Given the description of an element on the screen output the (x, y) to click on. 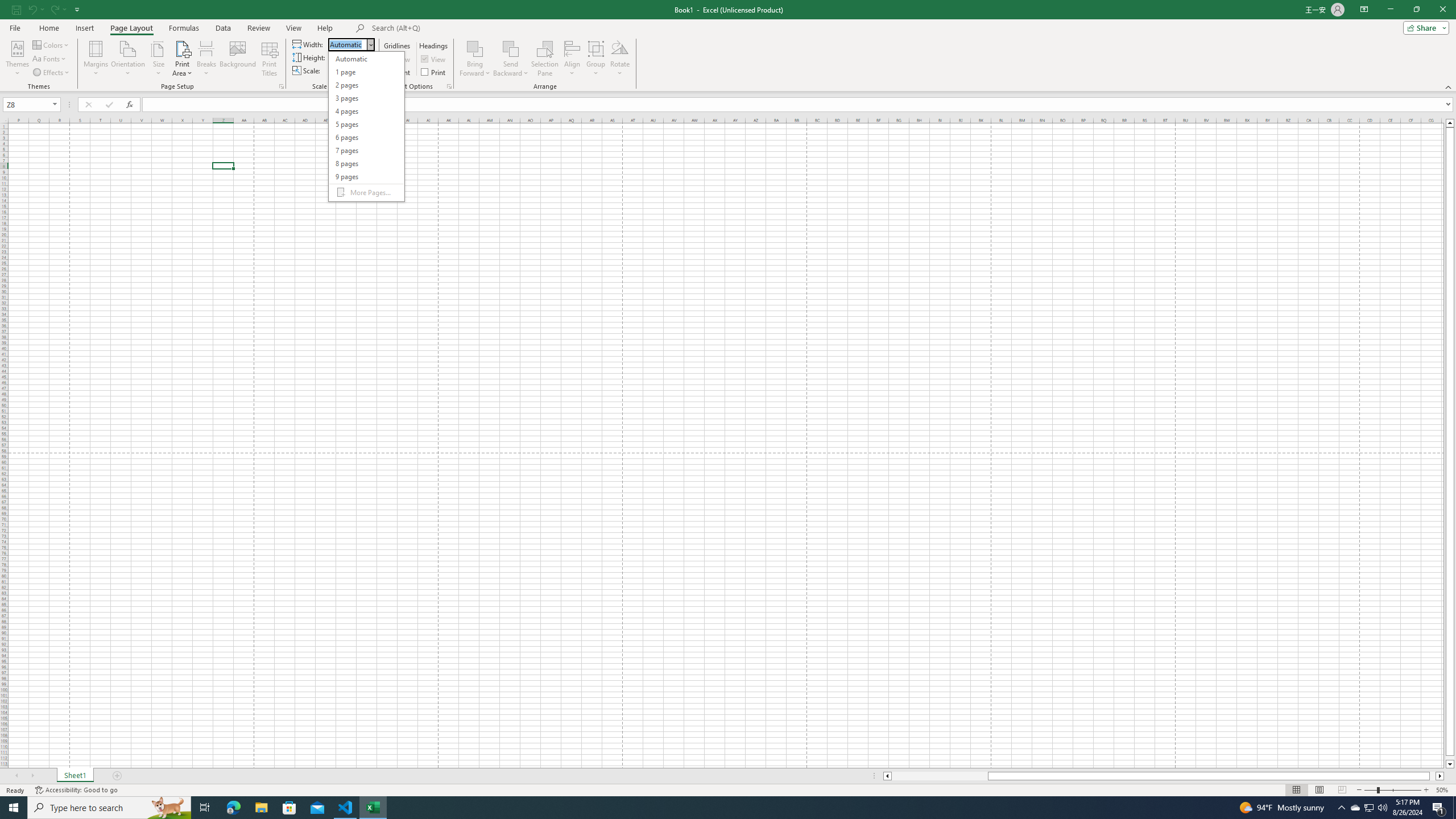
Scale (344, 70)
Background... (237, 58)
Bring Forward (475, 58)
Quick Access Toolbar (46, 9)
